Given the description of an element on the screen output the (x, y) to click on. 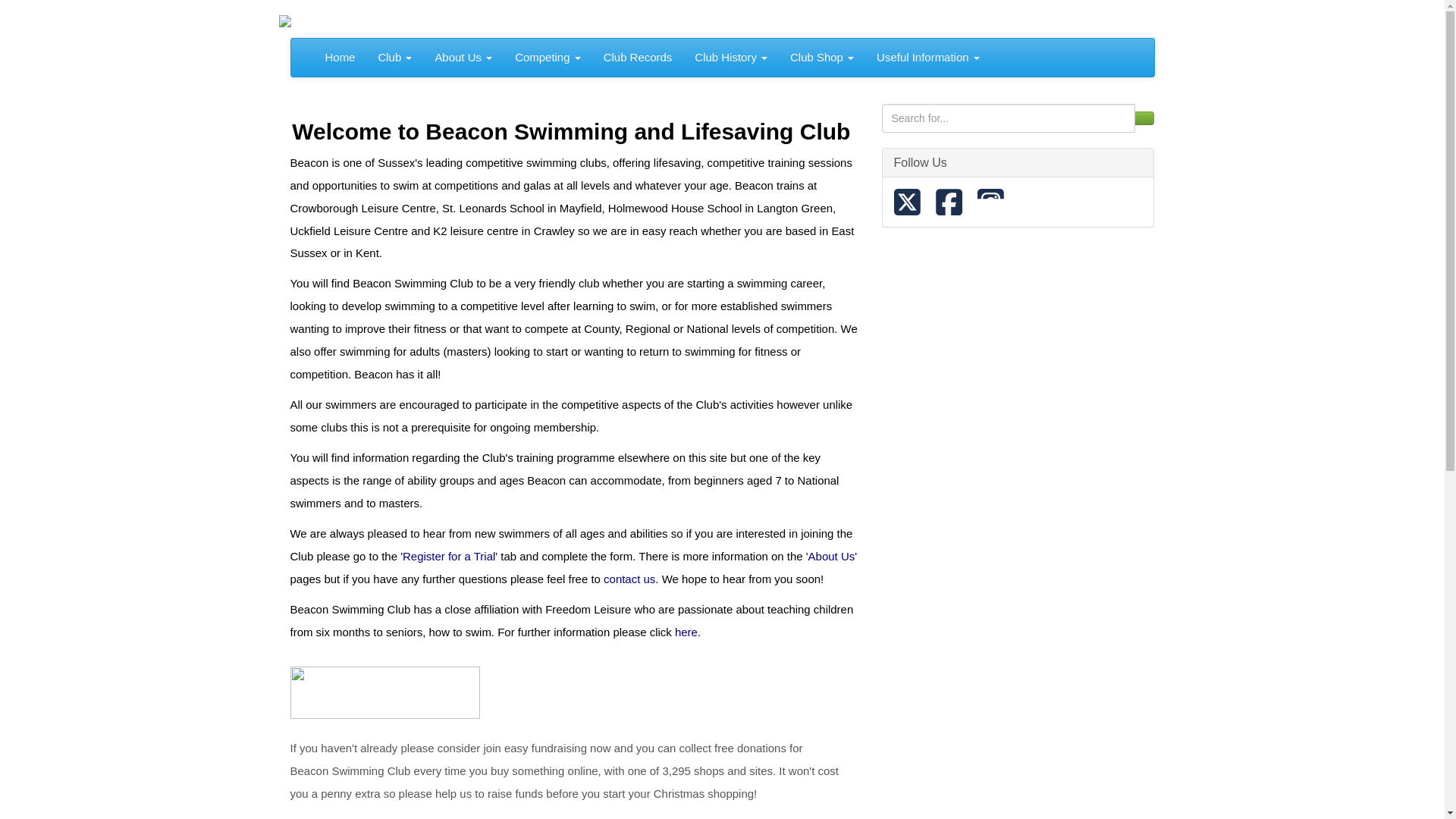
Club History (730, 57)
About Us (463, 57)
Club Records (638, 57)
Club Shop (821, 57)
Home (340, 57)
Club (394, 57)
Competing (547, 57)
